Given the description of an element on the screen output the (x, y) to click on. 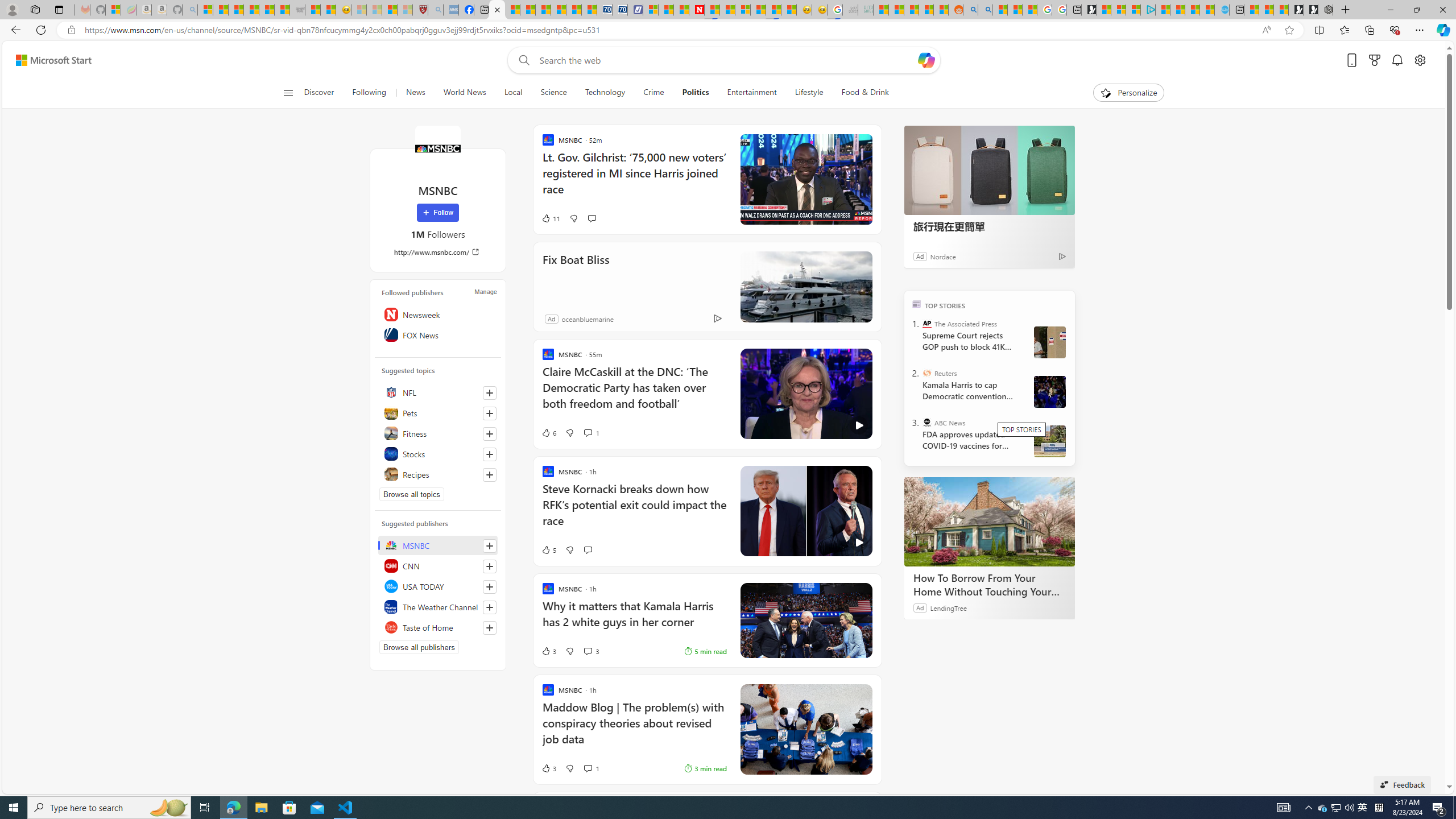
TOP (916, 302)
Browse all publishers (419, 647)
http://www.msnbc.com/ (438, 251)
Fix Boat BlissAdoceanbluemarine (707, 286)
